Given the description of an element on the screen output the (x, y) to click on. 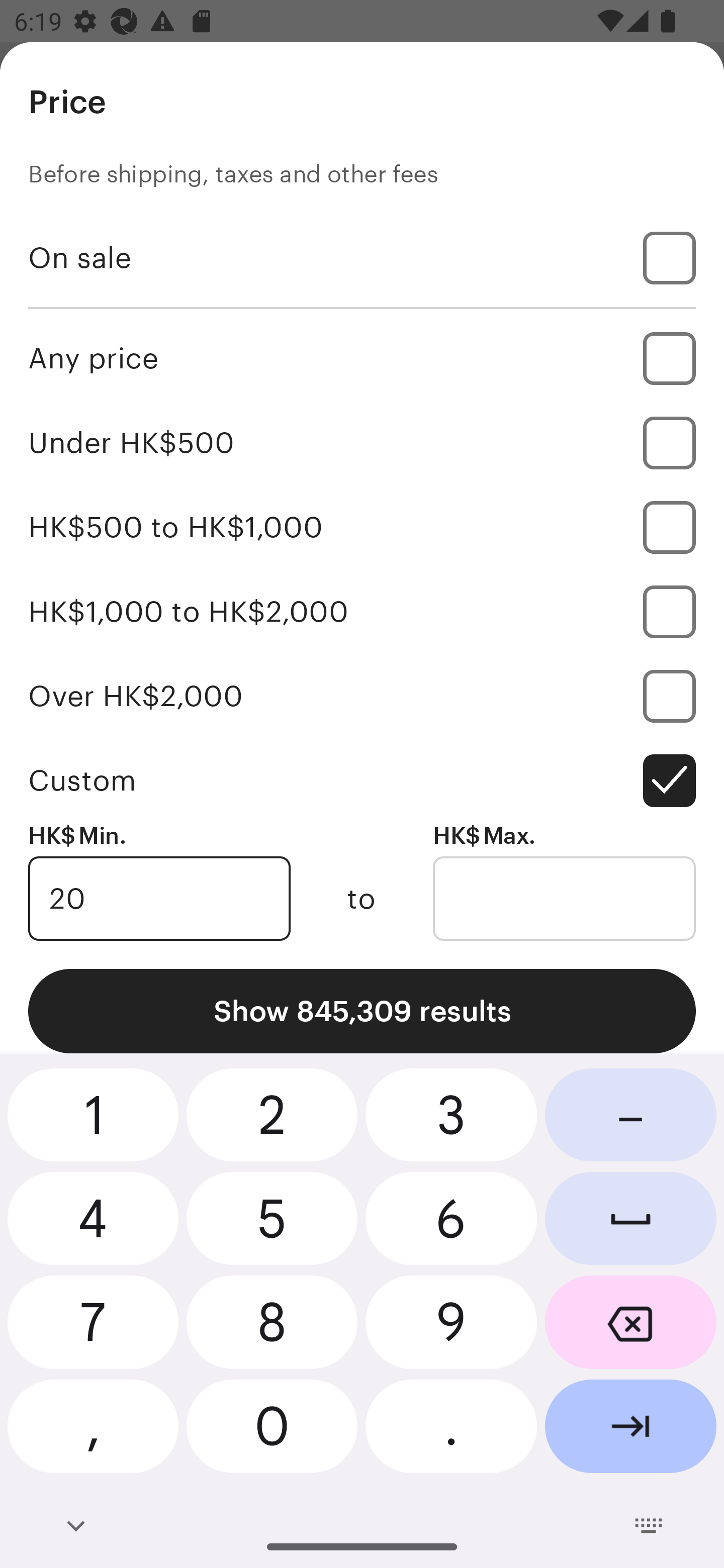
On sale (362, 257)
Any price (362, 357)
Under HK$500 (362, 441)
HK$500 to HK$1,000 (362, 526)
HK$1,000 to HK$2,000 (362, 611)
Over HK$2,000 (362, 695)
Custom (362, 780)
20 (159, 898)
Show 845,309 results (361, 1011)
